Given the description of an element on the screen output the (x, y) to click on. 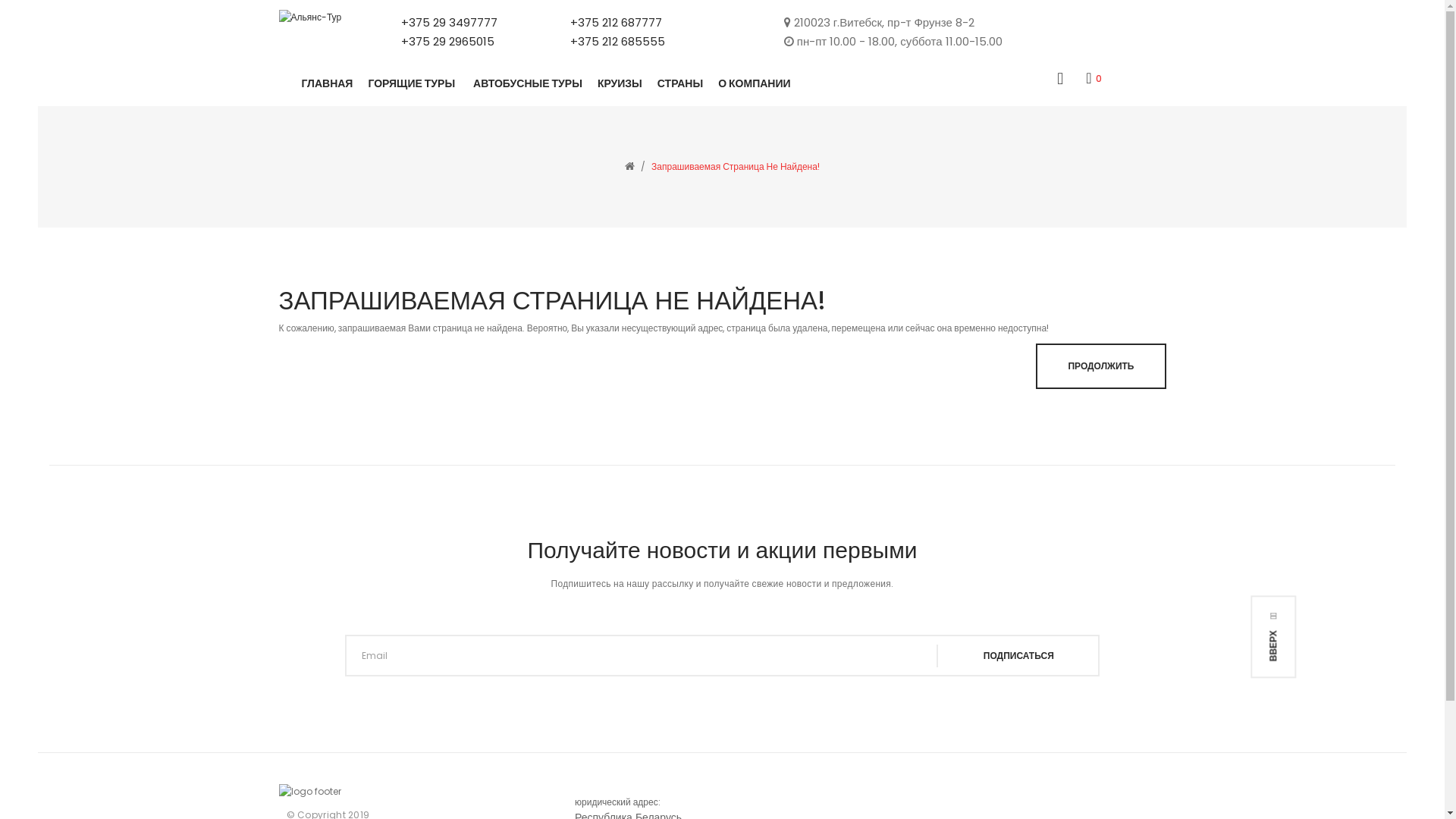
0 Element type: text (1093, 76)
+375 29 2965015 Element type: text (452, 41)
+375 29 3497777   Element type: text (452, 22)
+375 212 685555 Element type: text (617, 41)
+375 212 687777 Element type: text (617, 22)
